Given the description of an element on the screen output the (x, y) to click on. 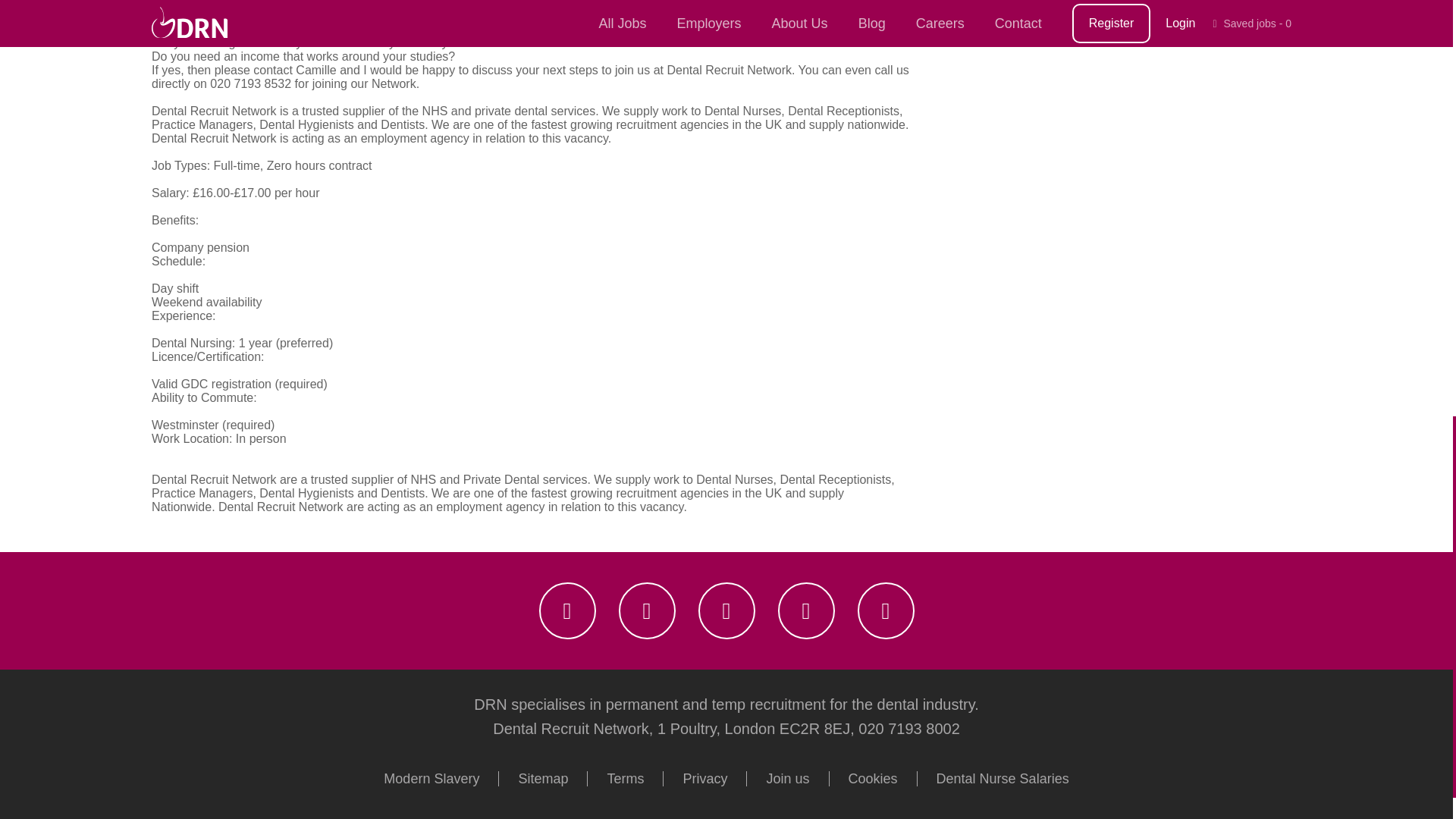
Sitemap (543, 778)
Terms (625, 778)
Modern Slavery (432, 778)
